Given the description of an element on the screen output the (x, y) to click on. 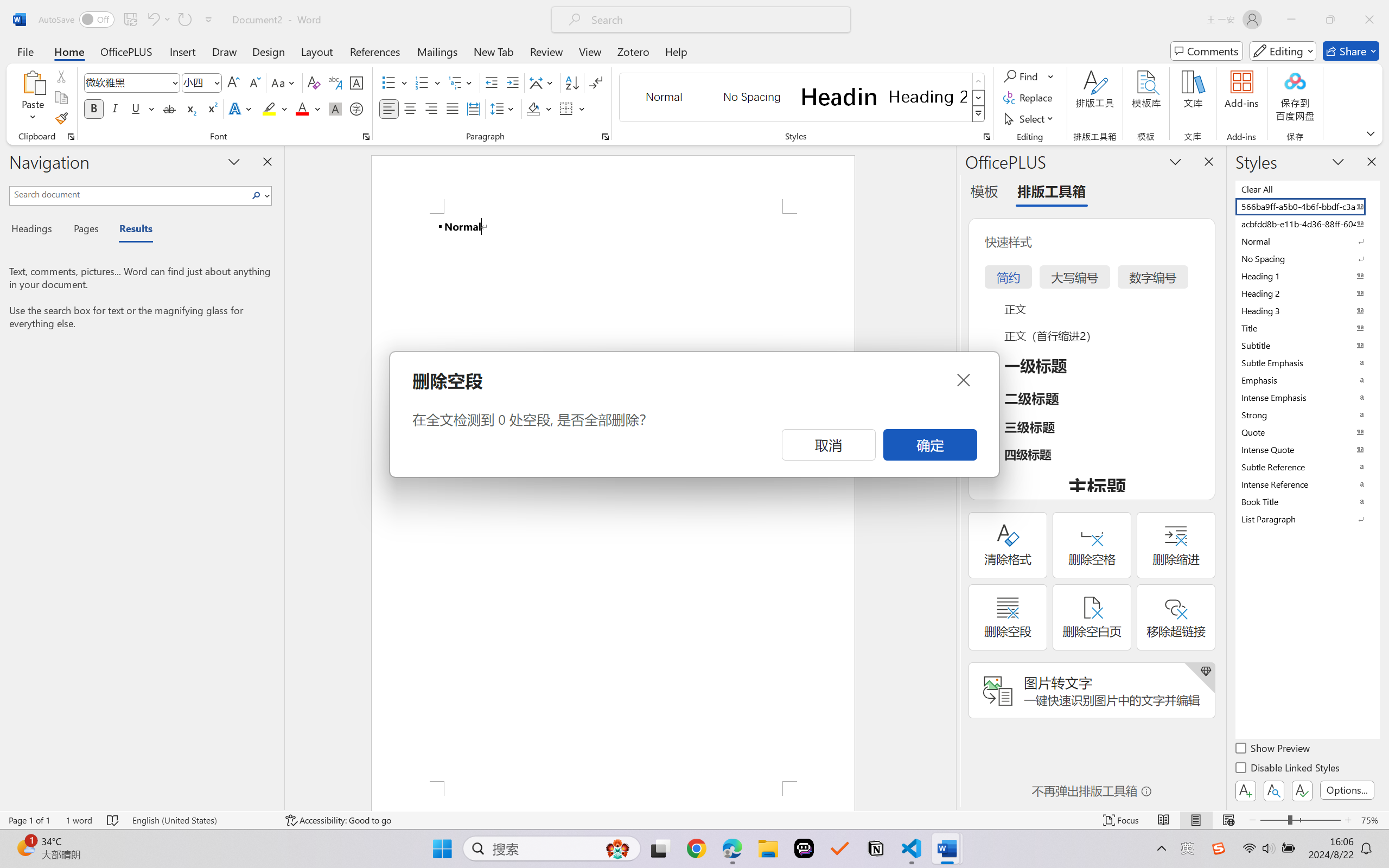
Pages (85, 229)
Decrease Indent (491, 82)
Focus  (1121, 819)
Options... (1346, 789)
View (589, 51)
Mailings (437, 51)
Borders (566, 108)
List Paragraph (1306, 518)
Justify (452, 108)
acbfdd8b-e11b-4d36-88ff-6049b138f862 (1306, 223)
Phonetic Guide... (334, 82)
Find (1029, 75)
Comments (1206, 50)
